Given the description of an element on the screen output the (x, y) to click on. 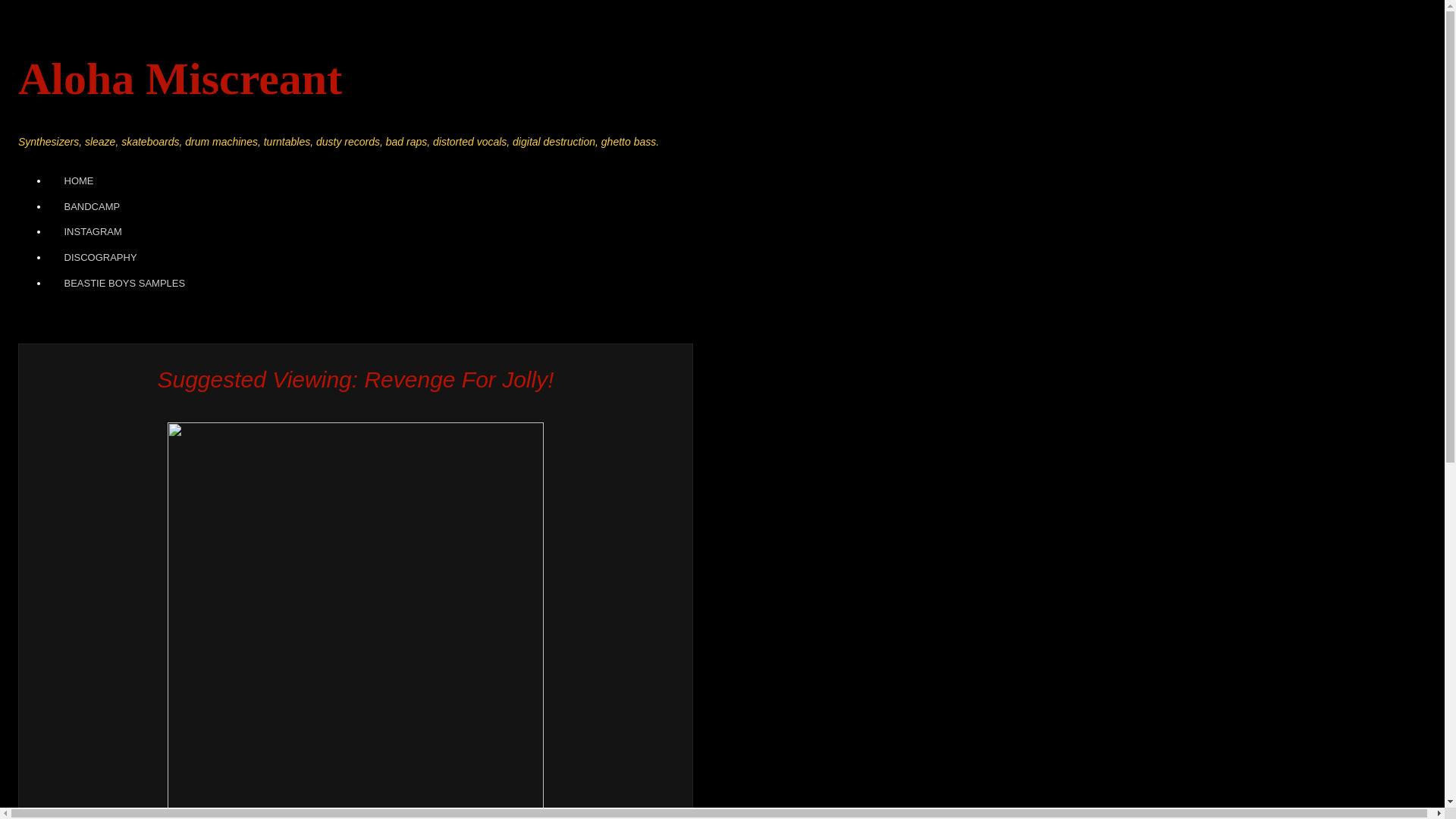
BEASTIE BOYS SAMPLES (124, 283)
DISCOGRAPHY (99, 257)
HOME (77, 181)
Aloha Miscreant (179, 79)
INSTAGRAM (92, 232)
BANDCAMP (91, 207)
